Given the description of an element on the screen output the (x, y) to click on. 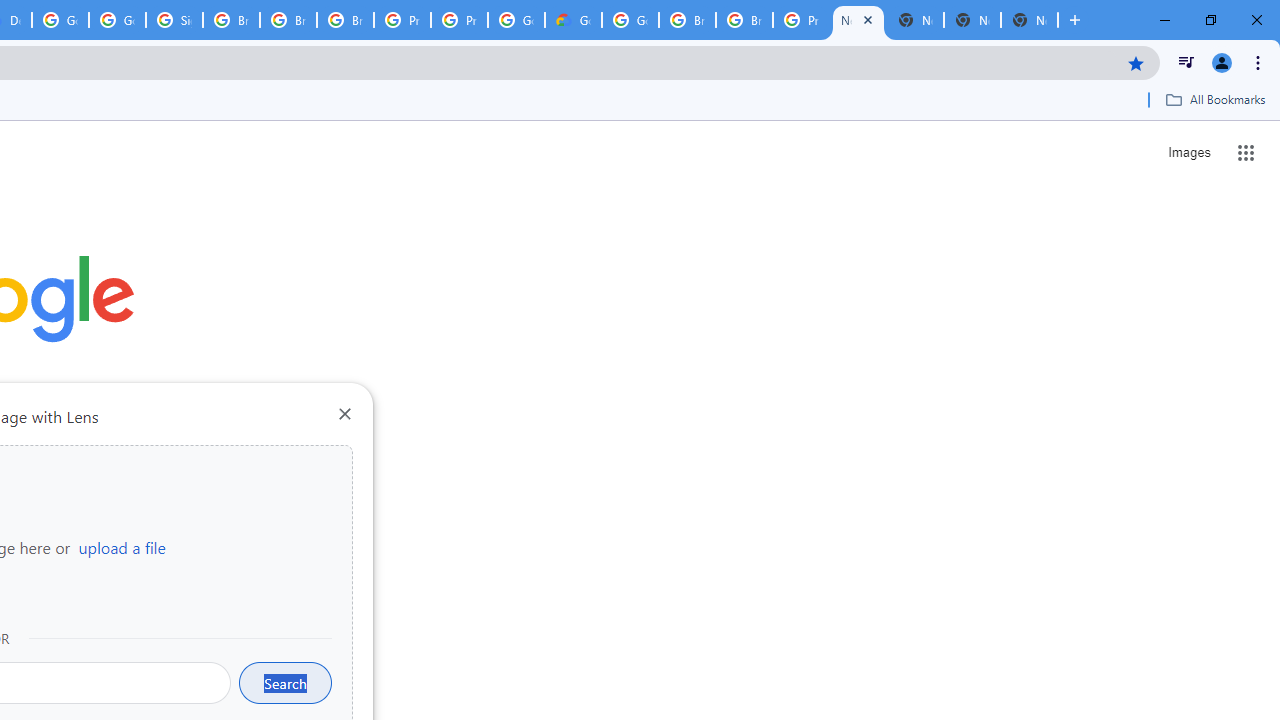
Sign in - Google Accounts (174, 20)
Browse Chrome as a guest - Computer - Google Chrome Help (687, 20)
Google Cloud Platform (630, 20)
All Bookmarks (1215, 99)
upload a file (122, 547)
Google Cloud Platform (60, 20)
Browse Chrome as a guest - Computer - Google Chrome Help (345, 20)
Google apps (1245, 152)
New Tab (858, 20)
